Given the description of an element on the screen output the (x, y) to click on. 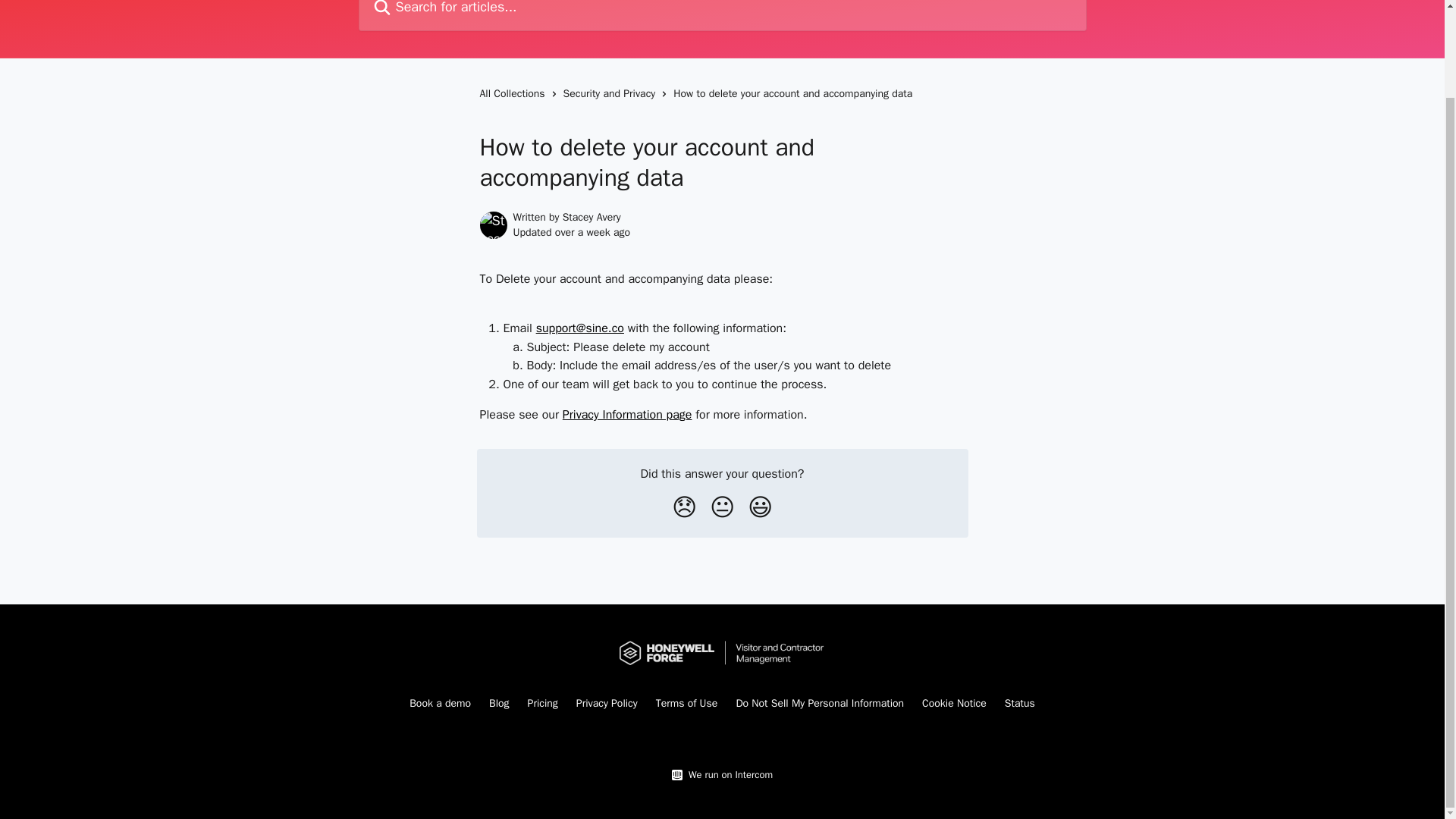
Book a demo (439, 703)
Privacy Information page (627, 414)
Terms of Use (686, 703)
Privacy Policy (606, 703)
Blog (499, 703)
Pricing (542, 703)
Security and Privacy (612, 93)
Status (1019, 703)
Do Not Sell My Personal Information (819, 703)
All Collections (514, 93)
We run on Intercom (727, 774)
Cookie Notice (954, 703)
